Given the description of an element on the screen output the (x, y) to click on. 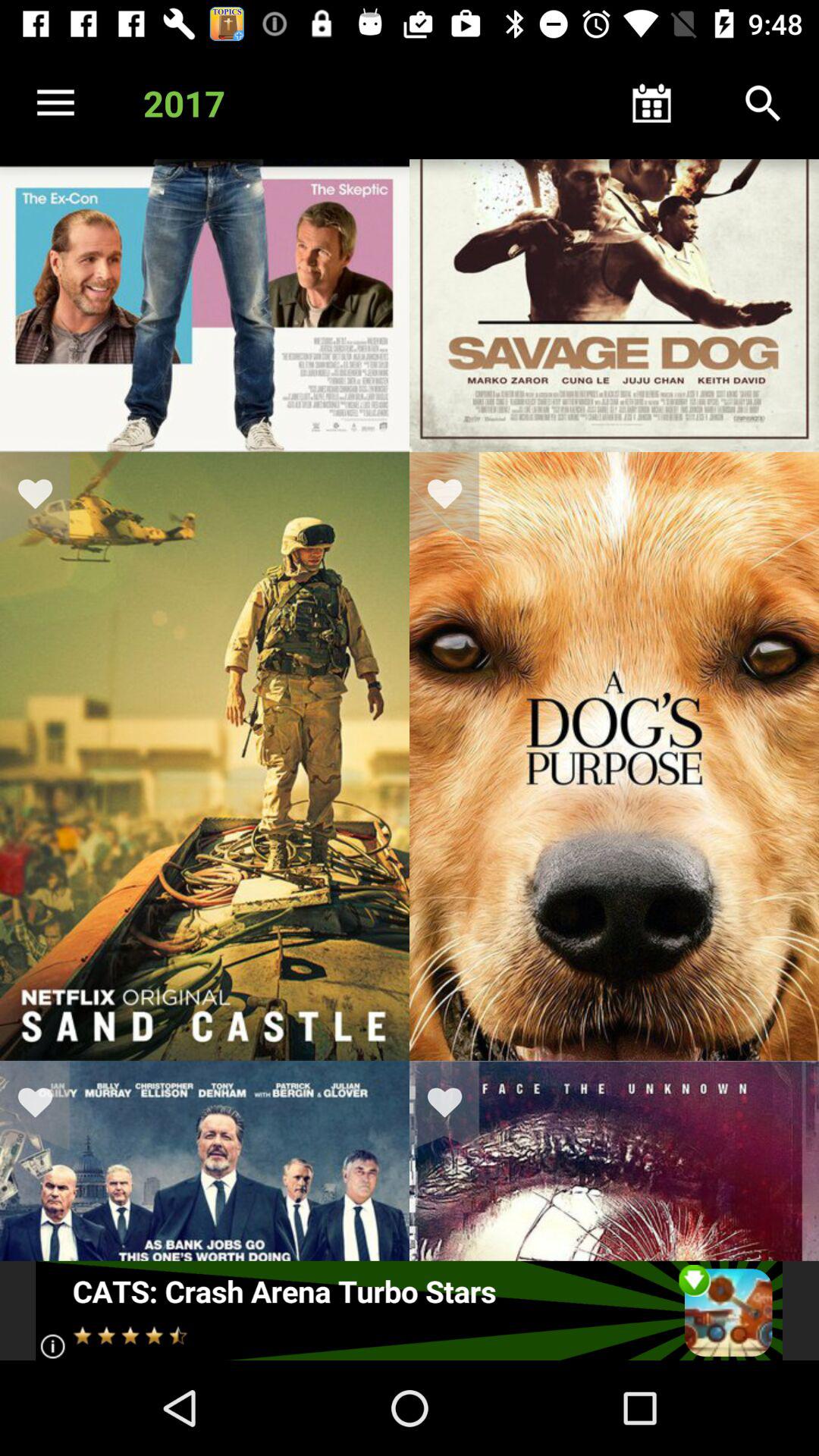
mark as favorite (44, 1105)
